Given the description of an element on the screen output the (x, y) to click on. 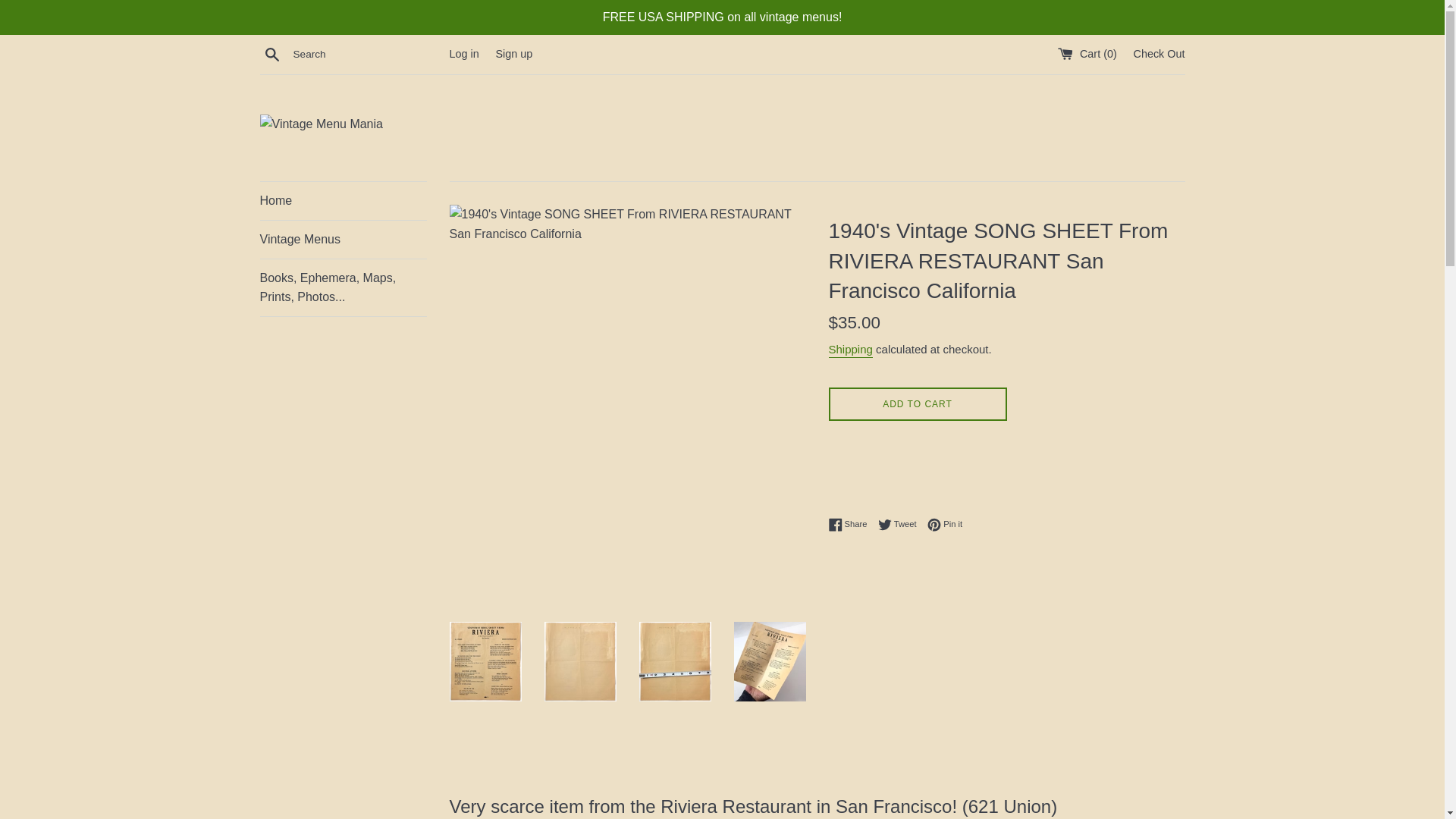
Home (342, 200)
Books, Ephemera, Maps, Prints, Photos... (944, 524)
Pin on Pinterest (342, 287)
Check Out (944, 524)
Sign up (1159, 53)
Log in (513, 53)
Tweet on Twitter (463, 53)
Search (900, 524)
